Given the description of an element on the screen output the (x, y) to click on. 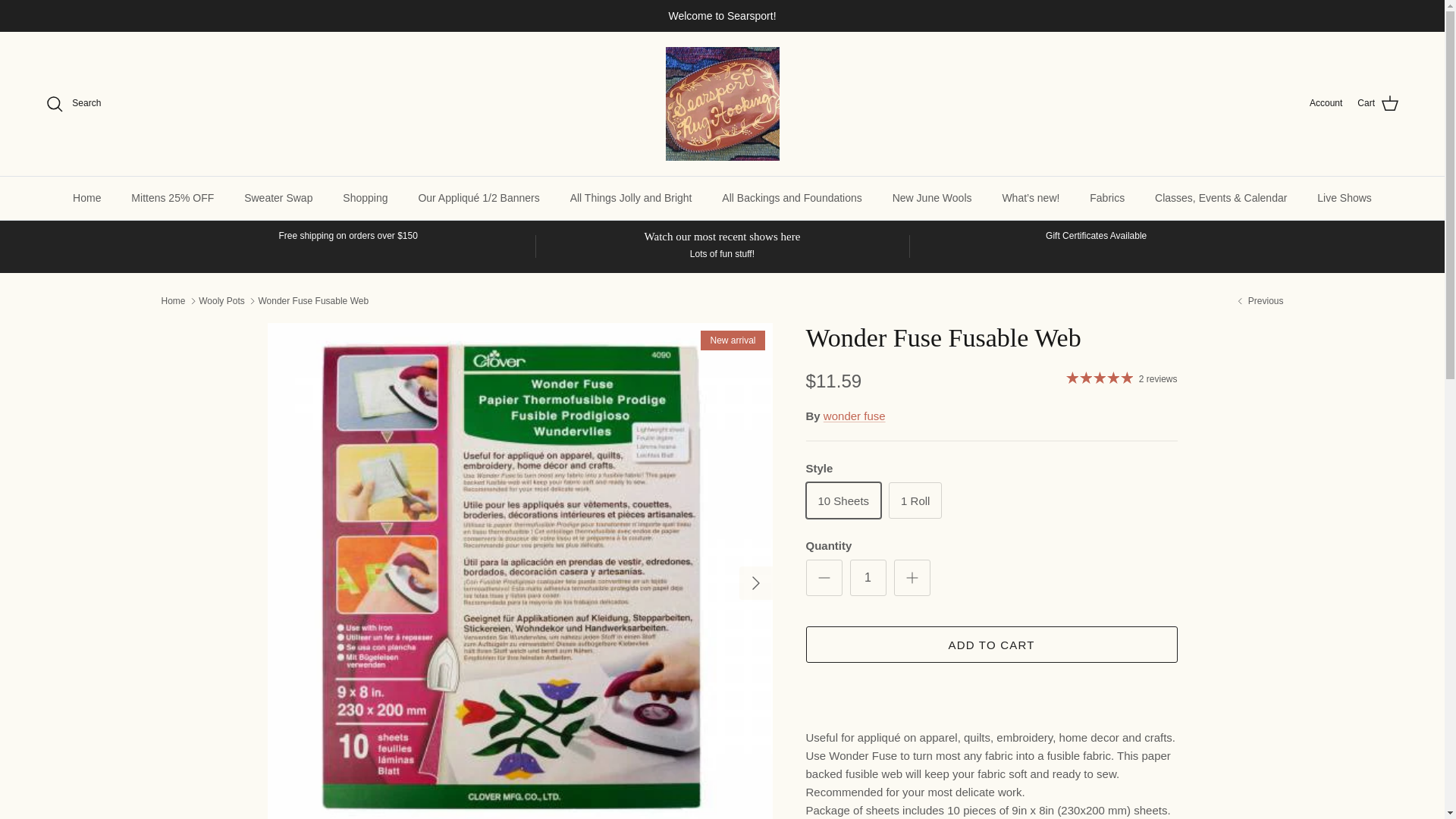
Account (1325, 103)
1 (866, 577)
Shopping (365, 198)
Cart (1377, 103)
Searsport Rug Hooking  (721, 103)
Home (87, 198)
Sweater Swap (278, 198)
Search (72, 104)
